Given the description of an element on the screen output the (x, y) to click on. 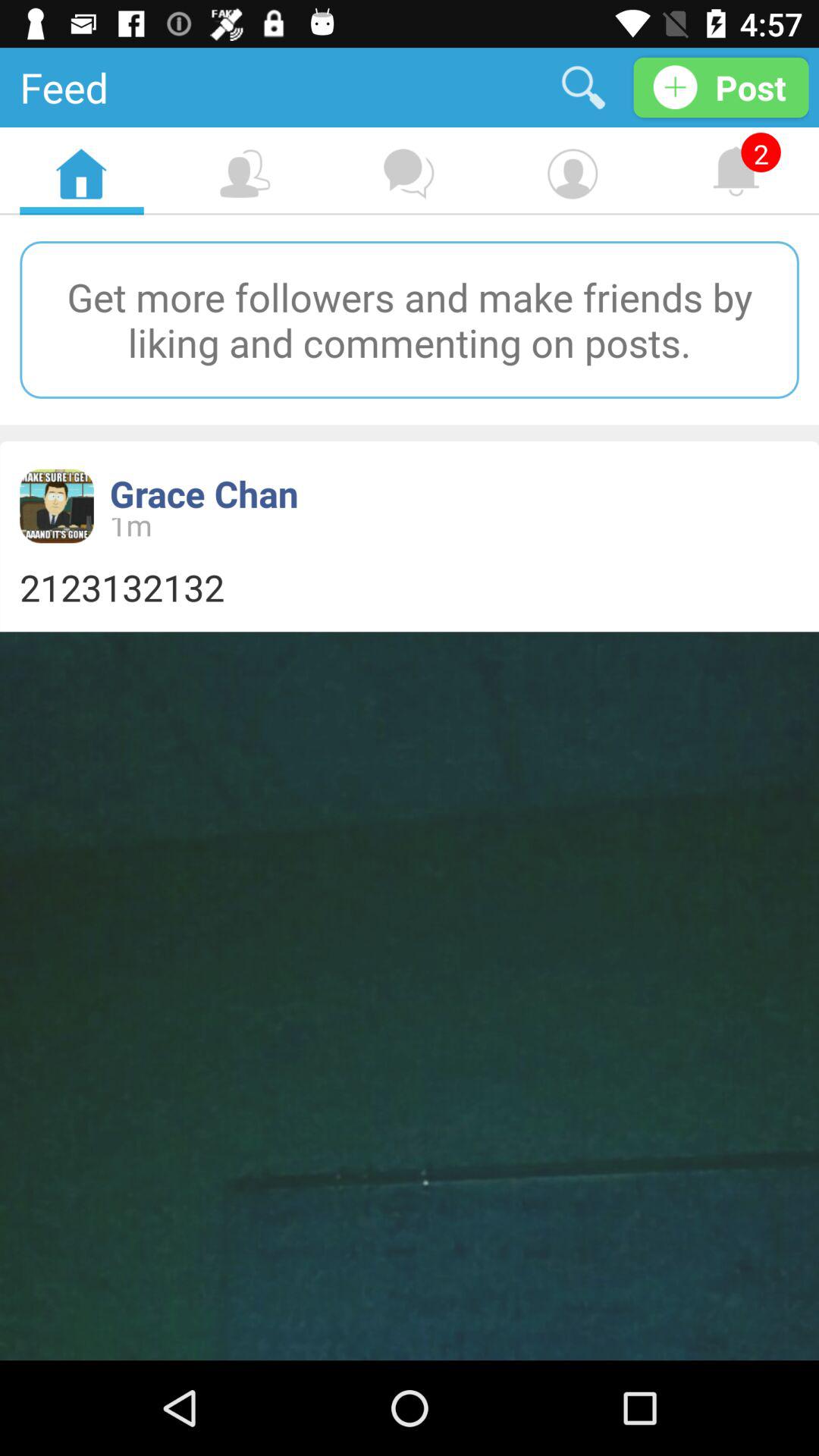
open icon to the left of post (583, 87)
